Given the description of an element on the screen output the (x, y) to click on. 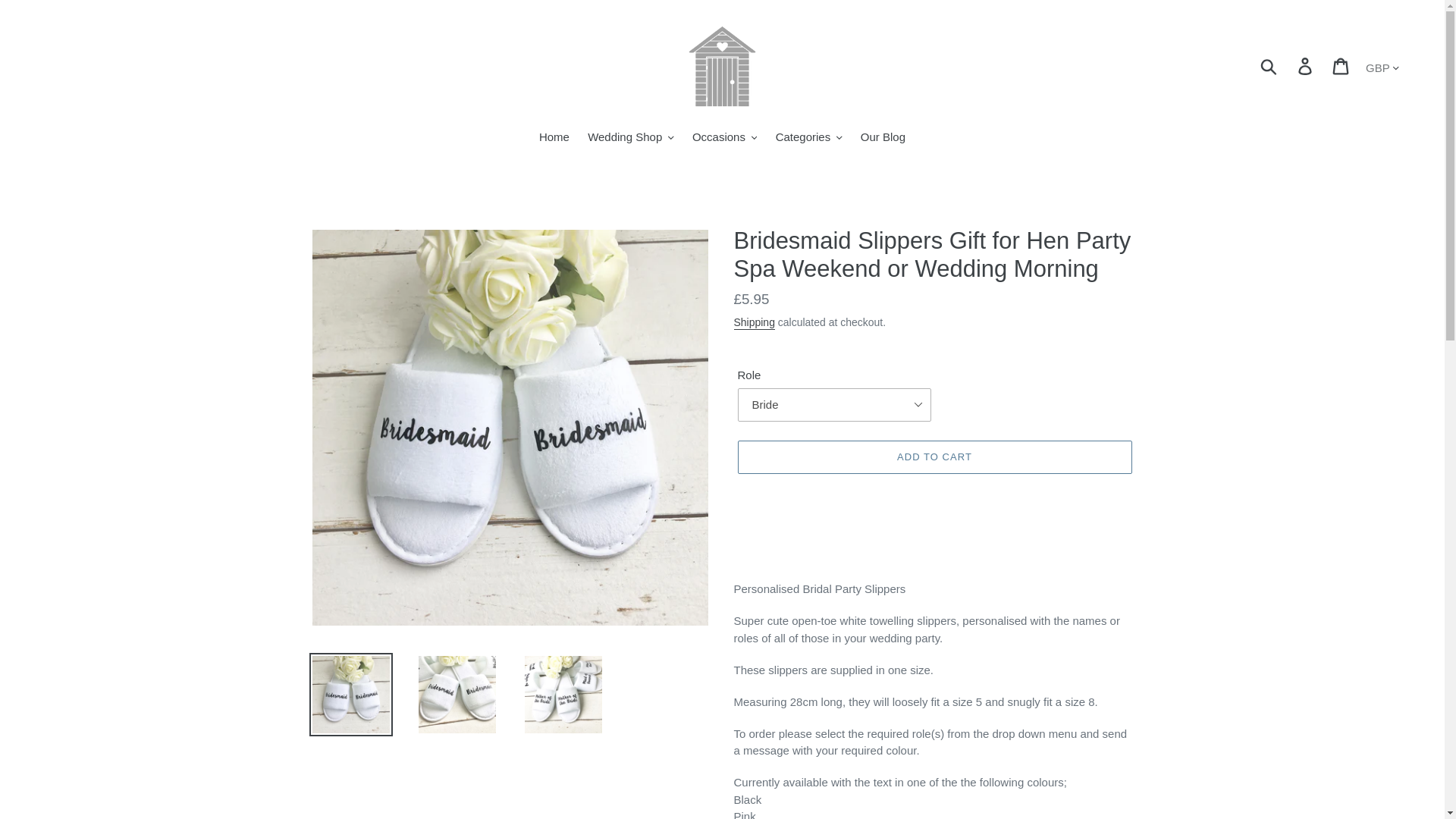
Log in (1305, 66)
Submit (1269, 66)
Cart (1341, 66)
